Given the description of an element on the screen output the (x, y) to click on. 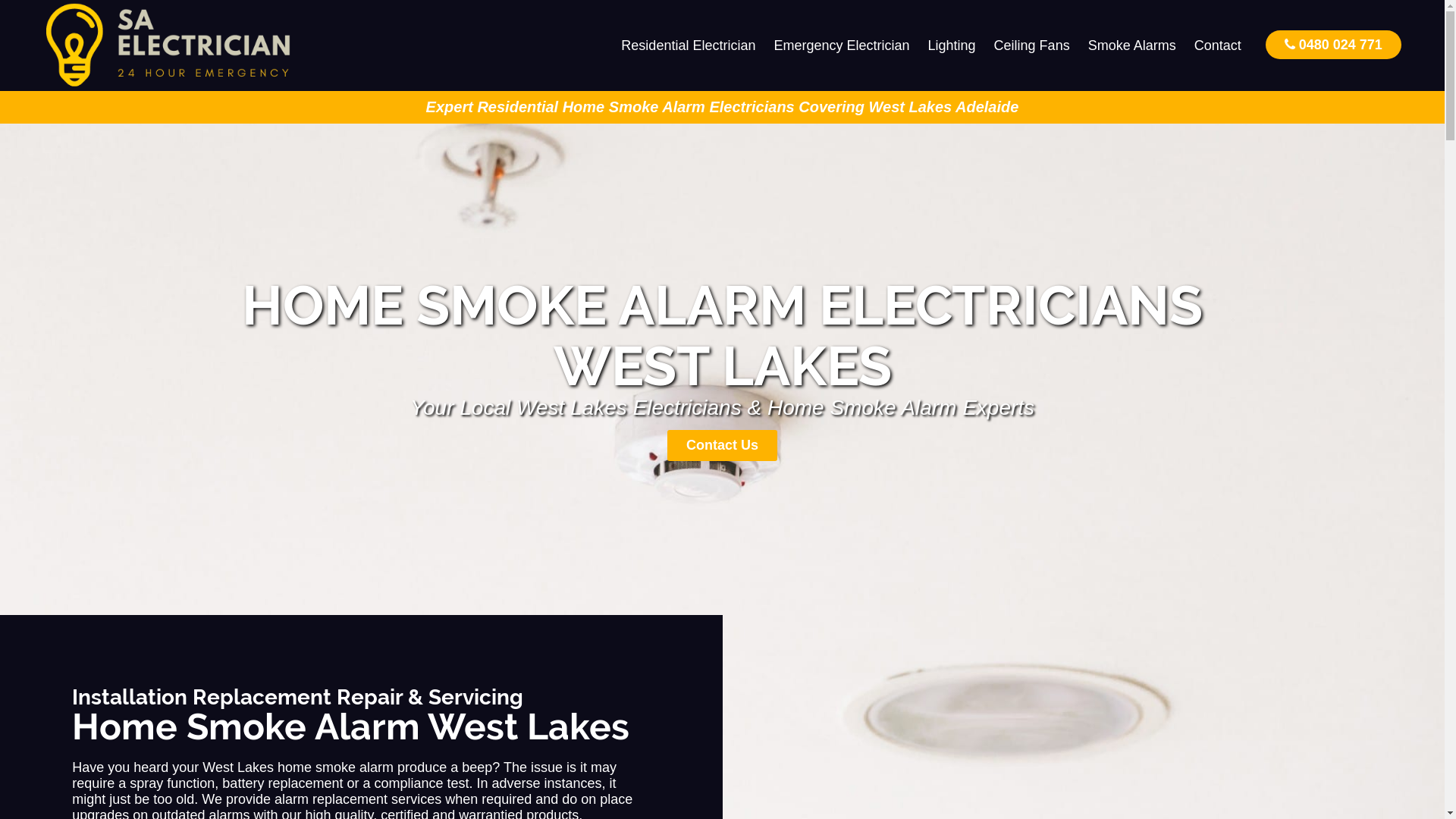
Residential Electrician Element type: text (687, 45)
Contact Us Element type: text (722, 445)
Lighting Element type: text (952, 45)
Contact Element type: text (1217, 45)
Smoke Alarms Element type: text (1132, 45)
Ceiling Fans Element type: text (1032, 45)
Emergency Electrician Element type: text (841, 45)
0480 024 771 Element type: text (1333, 44)
